Given the description of an element on the screen output the (x, y) to click on. 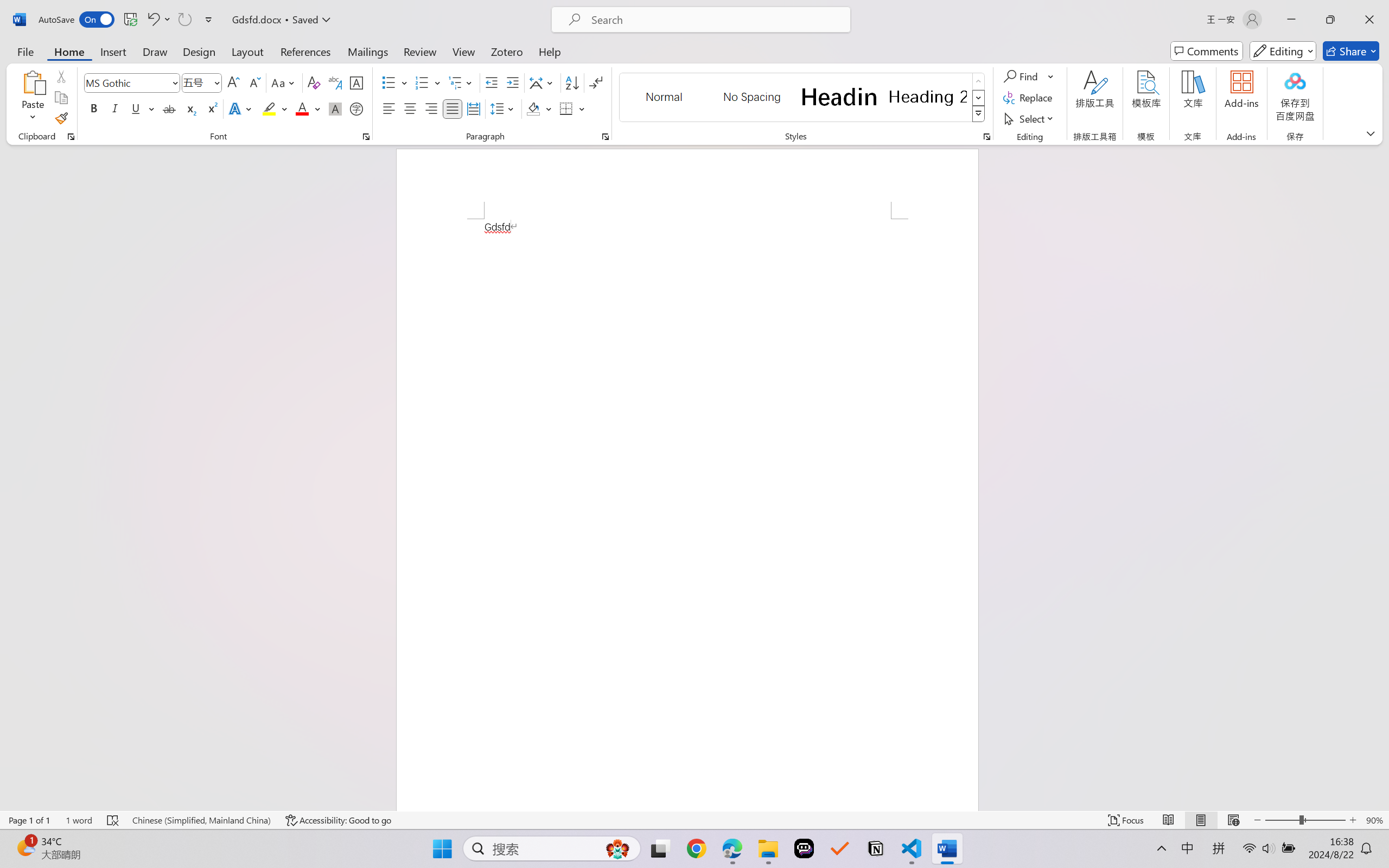
Distributed (473, 108)
